Given the description of an element on the screen output the (x, y) to click on. 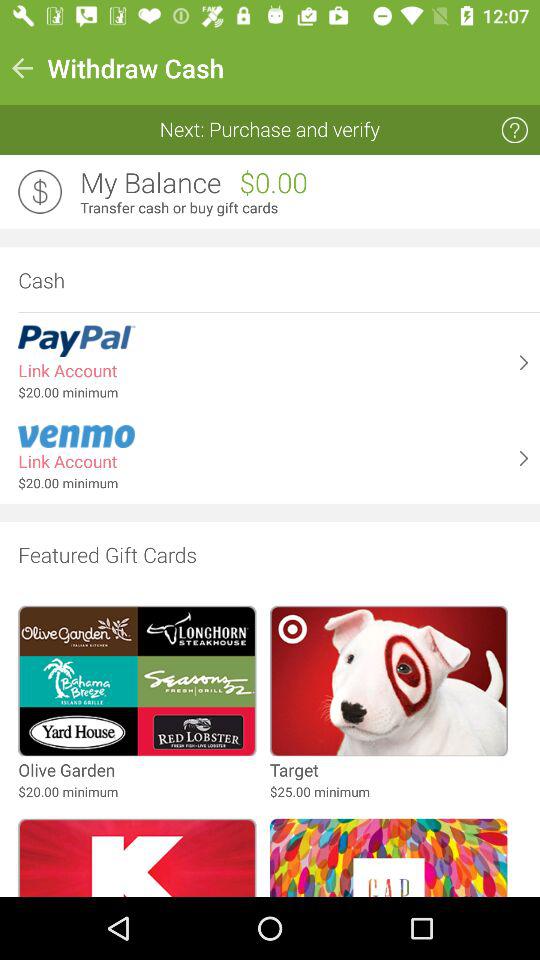
tap the icon below the my balance (304, 208)
